Given the description of an element on the screen output the (x, y) to click on. 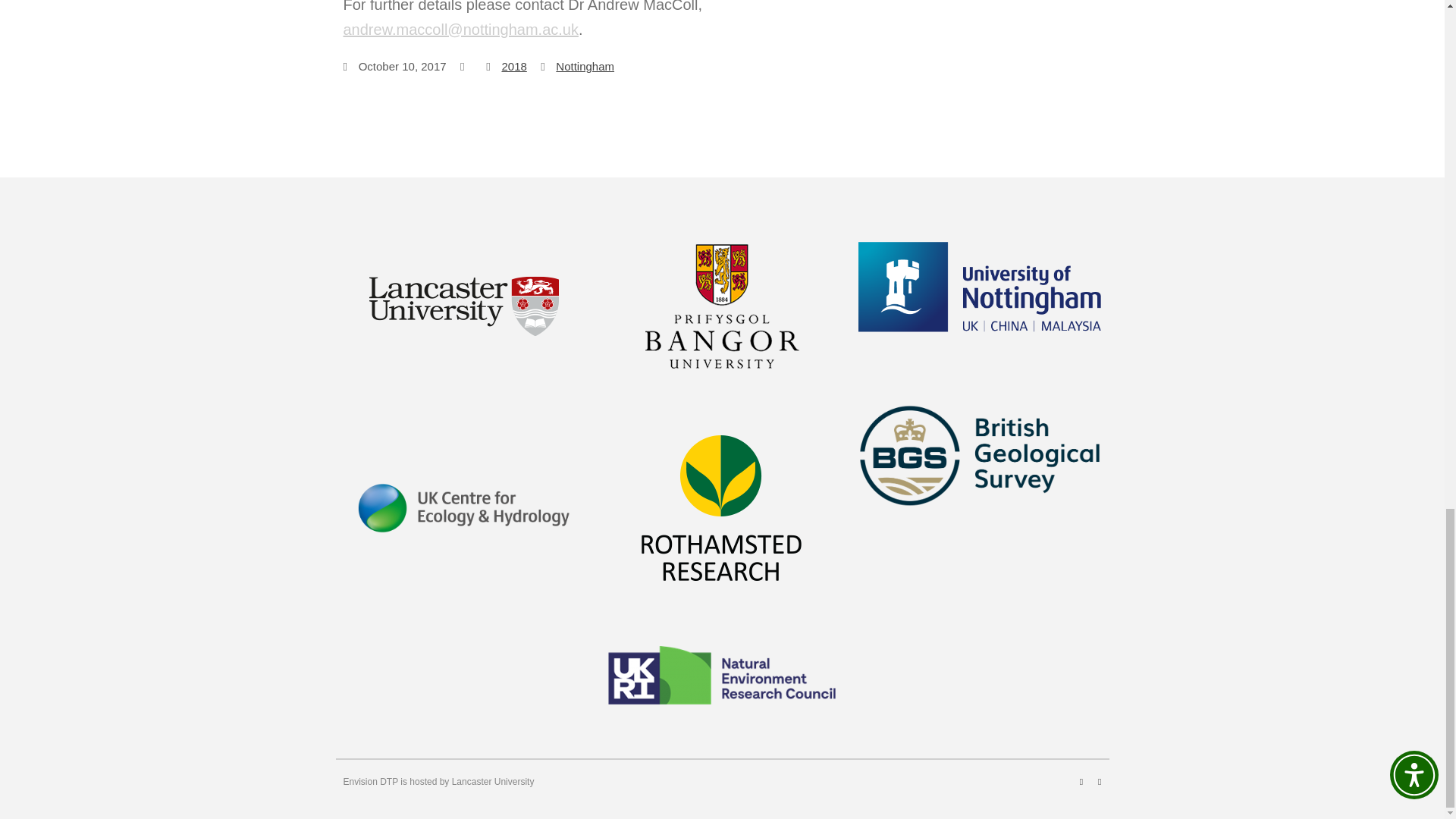
View all posts tagged Nottingham (585, 65)
View all posts in 2018 (512, 65)
